Given the description of an element on the screen output the (x, y) to click on. 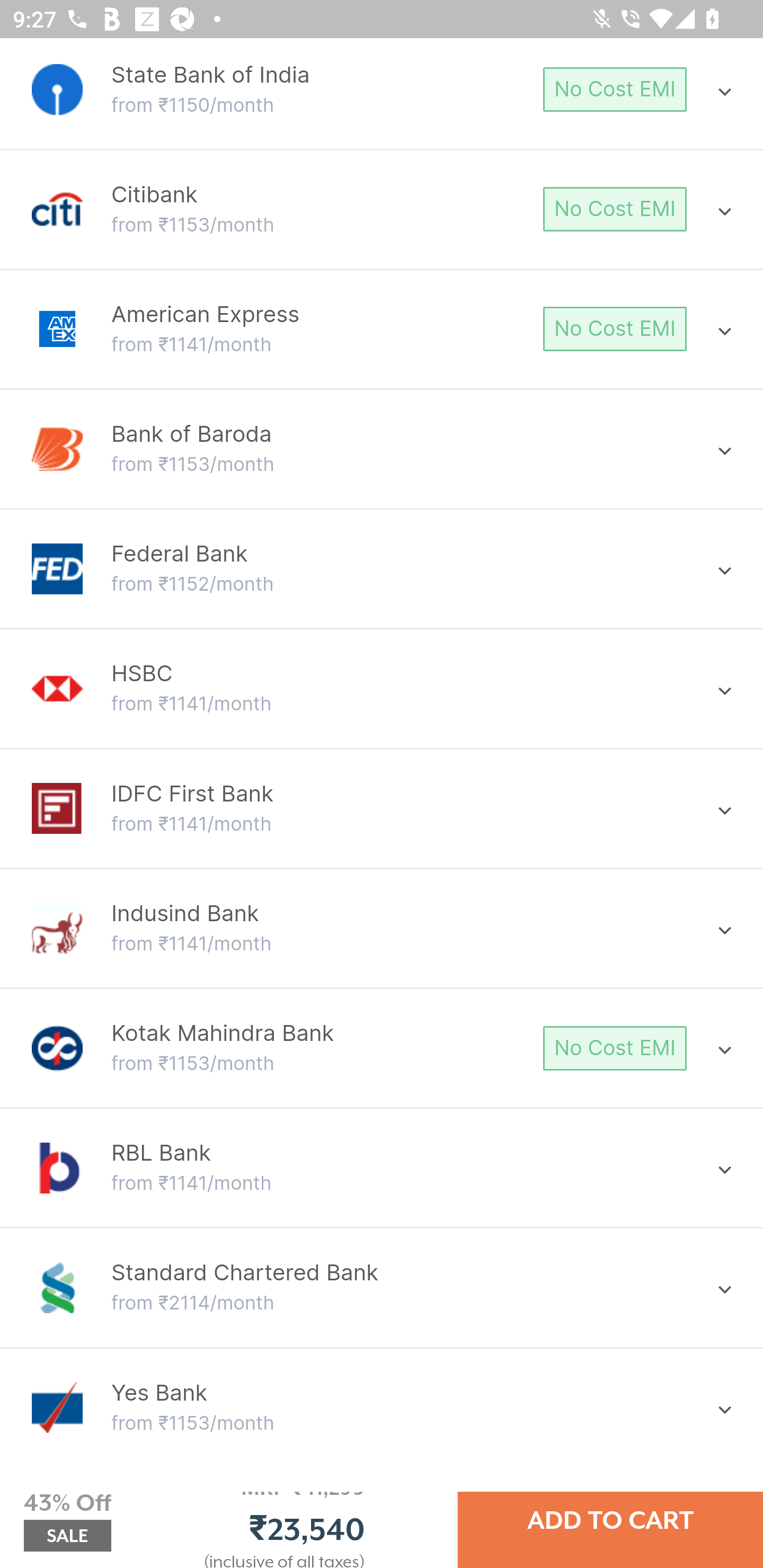
Citibank Citibank from ₹1153/month No Cost EMI (381, 208)
Bank of Baroda Bank of Baroda from ₹1153/month (381, 448)
Federal Bank Federal Bank from ₹1152/month (381, 568)
HSBC HSBC from ₹1141/month (381, 688)
IDFC First Bank IDFC First Bank from ₹1141/month (381, 807)
Indusind Bank Indusind Bank from ₹1141/month (381, 928)
RBL Bank RBL Bank from ₹1141/month (381, 1167)
Yes Bank Yes Bank from ₹1153/month (381, 1406)
ADD TO CART (610, 1520)
